Given the description of an element on the screen output the (x, y) to click on. 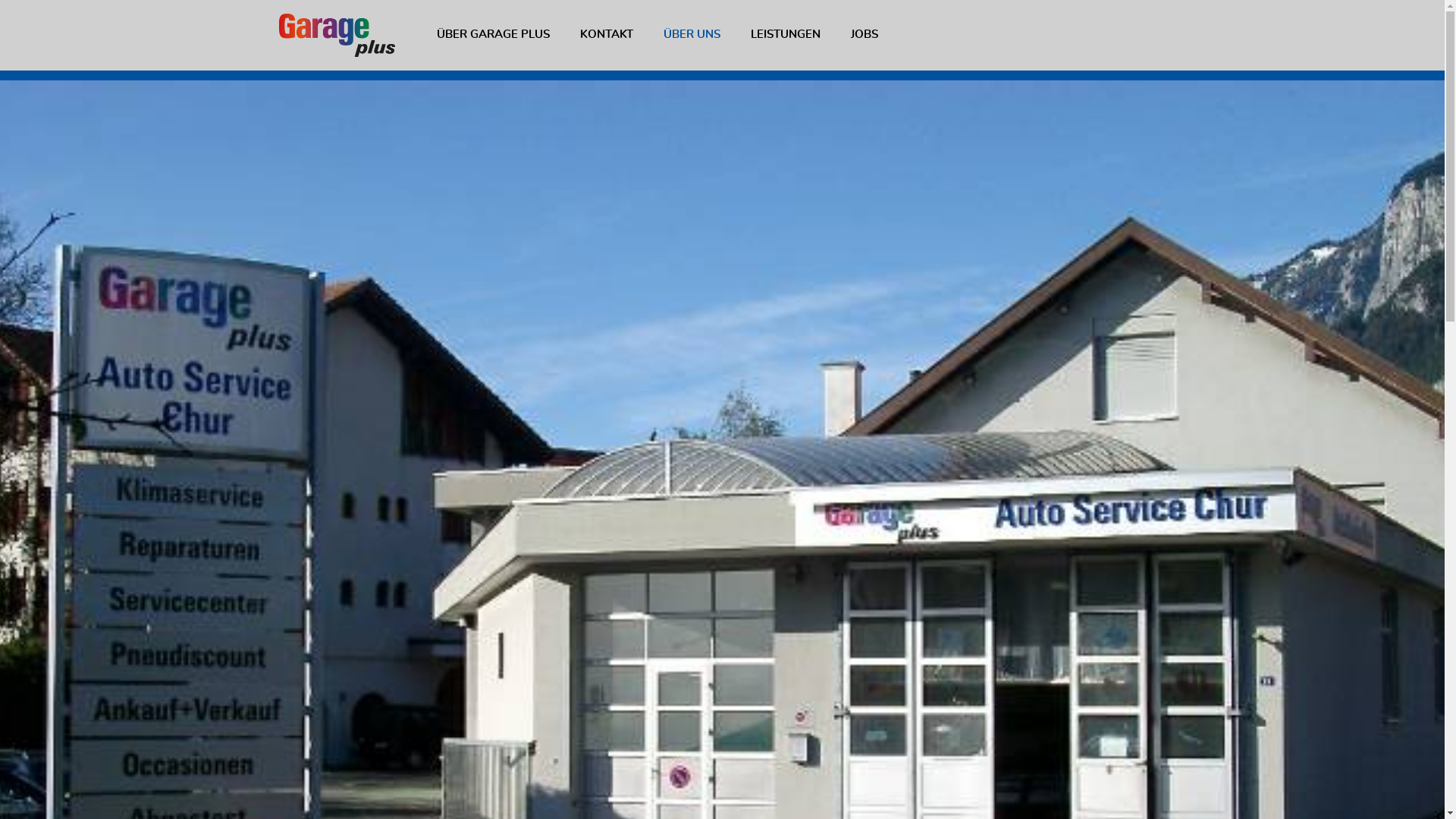
LEISTUNGEN Element type: text (785, 34)
JOBS Element type: text (864, 34)
KONTAKT Element type: text (605, 34)
